Given the description of an element on the screen output the (x, y) to click on. 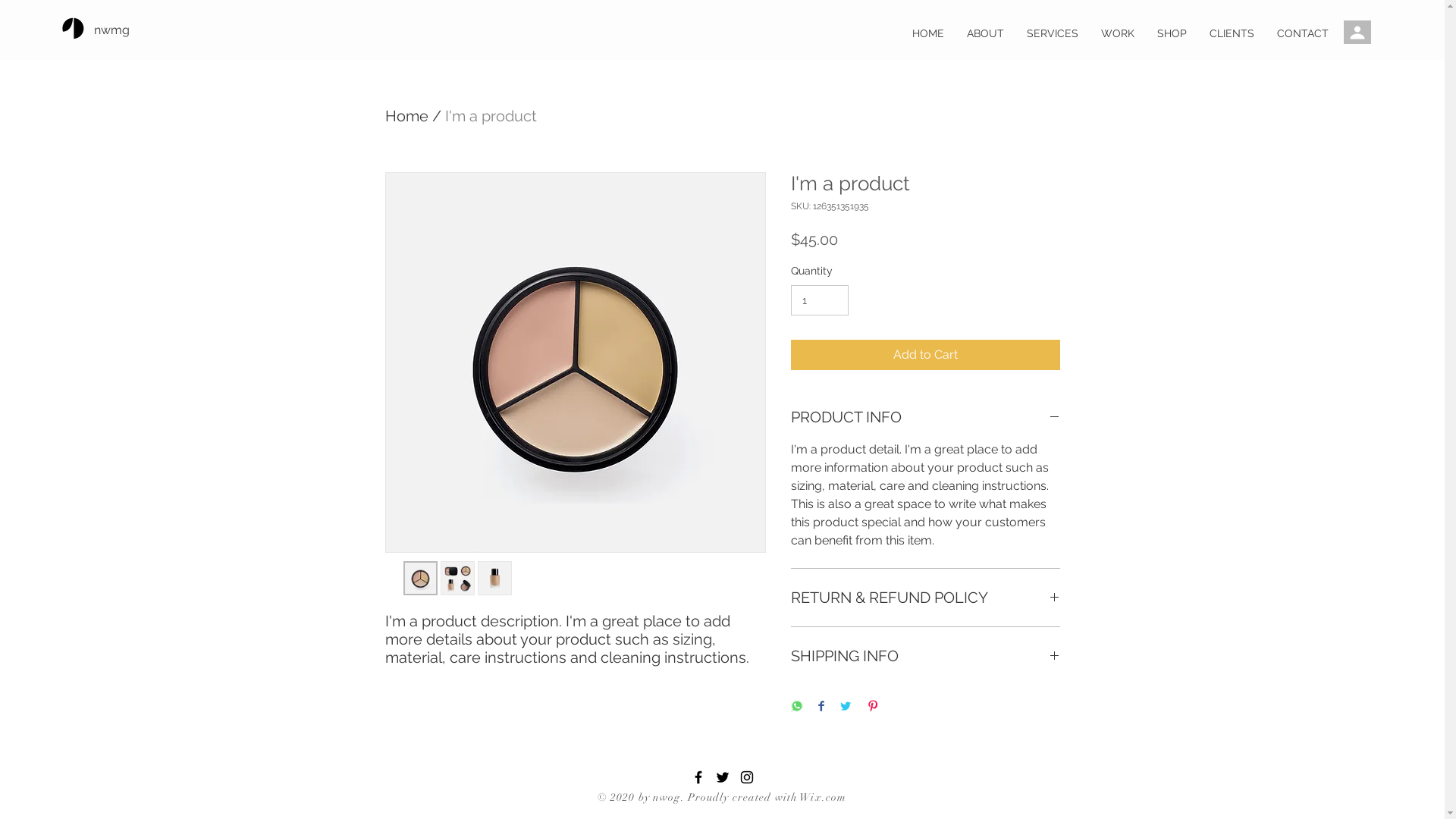
CONTACT Element type: text (1302, 33)
HOME Element type: text (927, 33)
ABOUT Element type: text (985, 33)
WORK Element type: text (1117, 33)
SHOP Element type: text (1171, 33)
SERVICES Element type: text (1052, 33)
Add to Cart Element type: text (924, 354)
I'm a product Element type: text (490, 115)
PRODUCT INFO Element type: text (924, 416)
CLIENTS Element type: text (1231, 33)
SHIPPING INFO Element type: text (924, 655)
RETURN & REFUND POLICY Element type: text (924, 597)
Home Element type: text (406, 115)
nwmg Element type: text (143, 30)
